Given the description of an element on the screen output the (x, y) to click on. 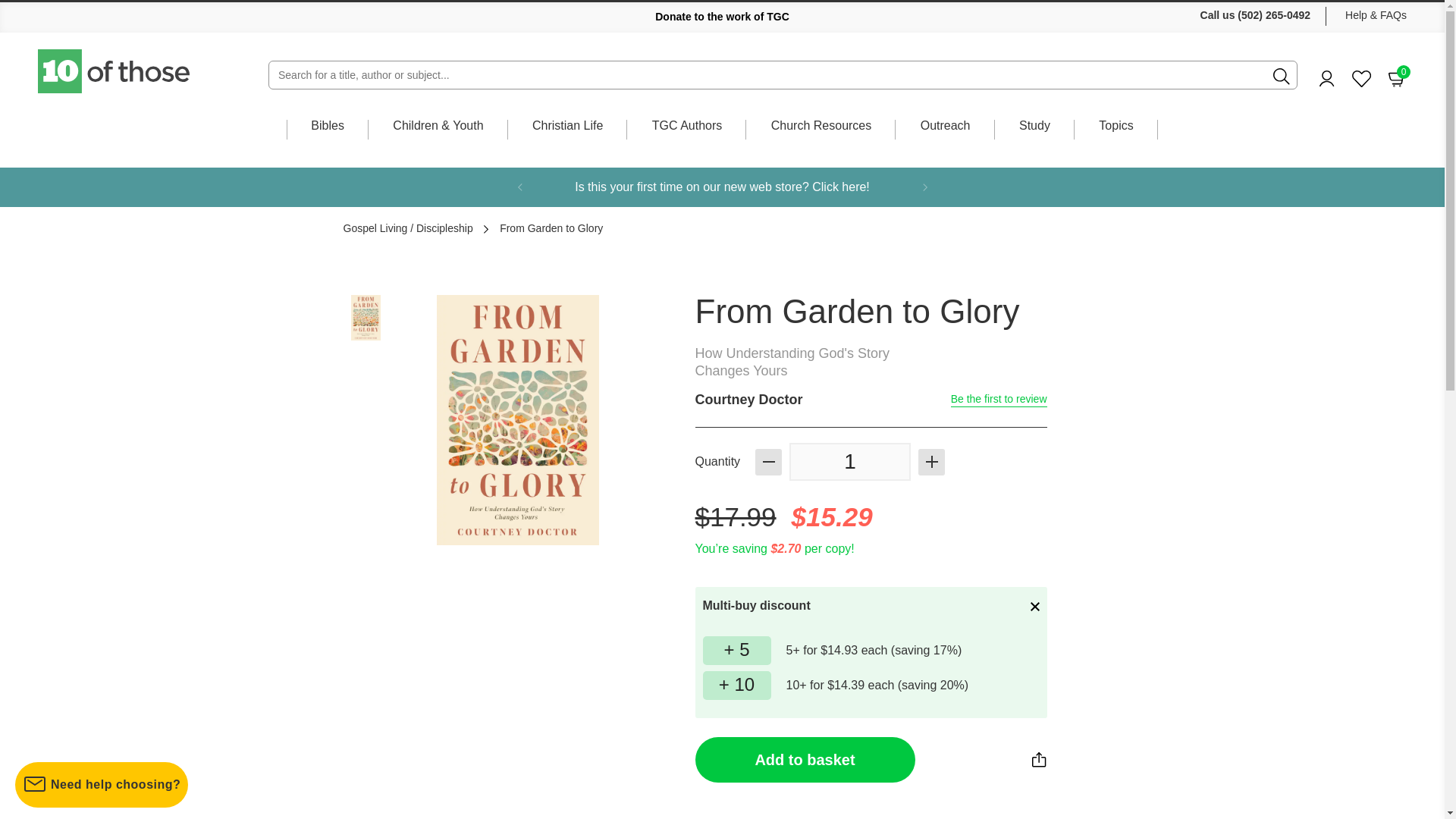
Account (1327, 78)
1 (850, 461)
Donate to the work of TGC (1397, 77)
Submit the search query. (722, 16)
10 of those (1281, 76)
Favourites (114, 71)
Bibles (1361, 78)
